Given the description of an element on the screen output the (x, y) to click on. 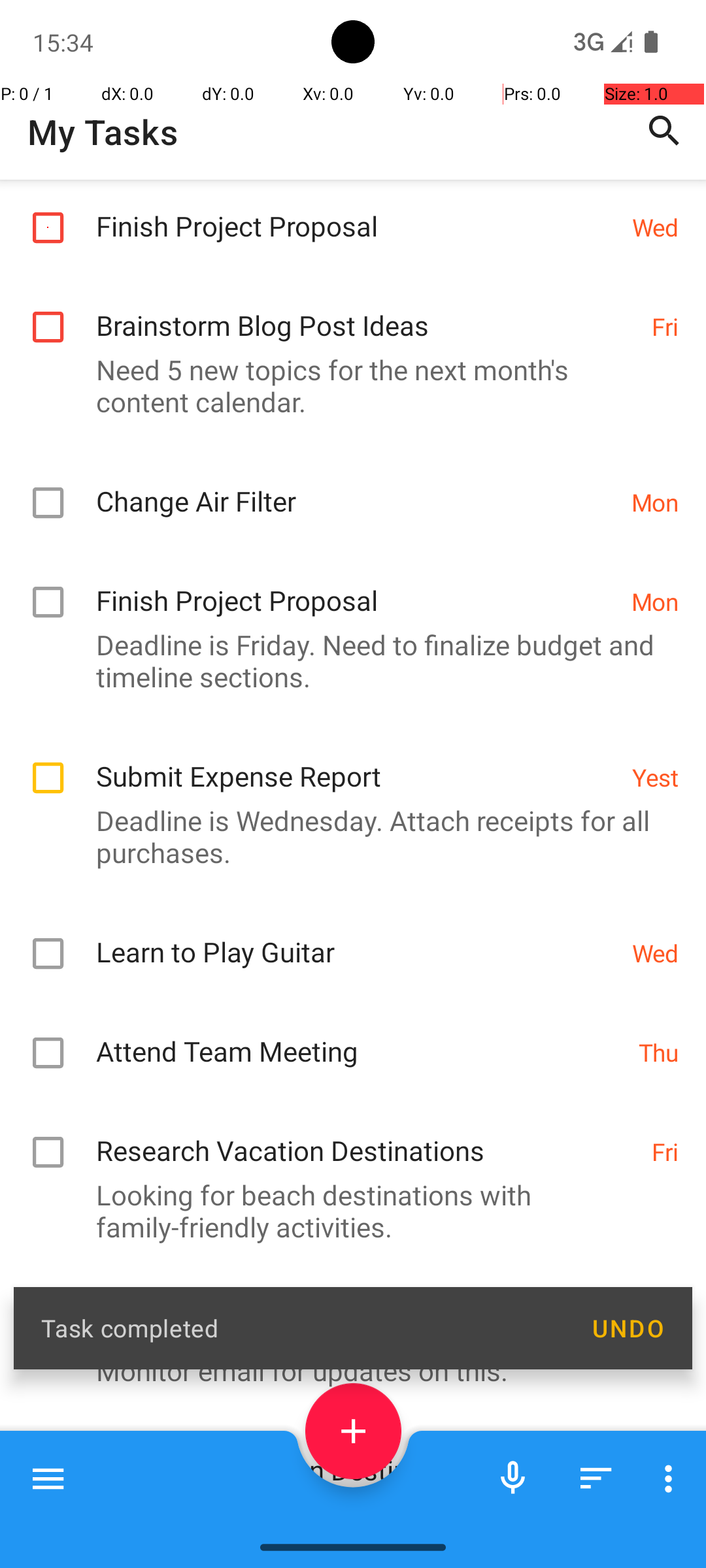
My Tasks Element type: android.widget.TextView (102, 131)
Sort Element type: android.widget.Button (595, 1478)
Task completed Element type: android.widget.TextView (302, 1327)
UNDO Element type: android.widget.Button (627, 1328)
Finish Project Proposal Element type: android.widget.TextView (357, 301)
Wed Element type: android.widget.TextView (655, 316)
Brainstorm Blog Post Ideas Element type: android.widget.TextView (367, 400)
Need 5 new topics for the next month's content calendar. Element type: android.widget.TextView (346, 474)
Fri Element type: android.widget.TextView (665, 415)
Change Air Filter Element type: android.widget.TextView (356, 576)
Mon Element type: android.widget.TextView (654, 591)
Deadline is Friday. Need to finalize budget and timeline sections. Element type: android.widget.TextView (346, 749)
Submit Expense Report Element type: android.widget.TextView (357, 851)
Deadline is Wednesday. Attach receipts for all purchases. Element type: android.widget.TextView (346, 925)
Yest Element type: android.widget.TextView (655, 866)
Learn to Play Guitar Element type: android.widget.TextView (357, 1027)
Attend Team Meeting Element type: android.widget.TextView (360, 1126)
Thu Element type: android.widget.TextView (658, 1141)
Research Vacation Destinations Element type: android.widget.TextView (367, 1225)
Looking for beach destinations with family-friendly activities. Element type: android.widget.TextView (346, 1299)
Update website content Element type: android.widget.TextView (350, 1401)
Monitor email for updates on this. Element type: android.widget.TextView (346, 1459)
Tmrw Element type: android.widget.TextView (648, 1416)
